Given the description of an element on the screen output the (x, y) to click on. 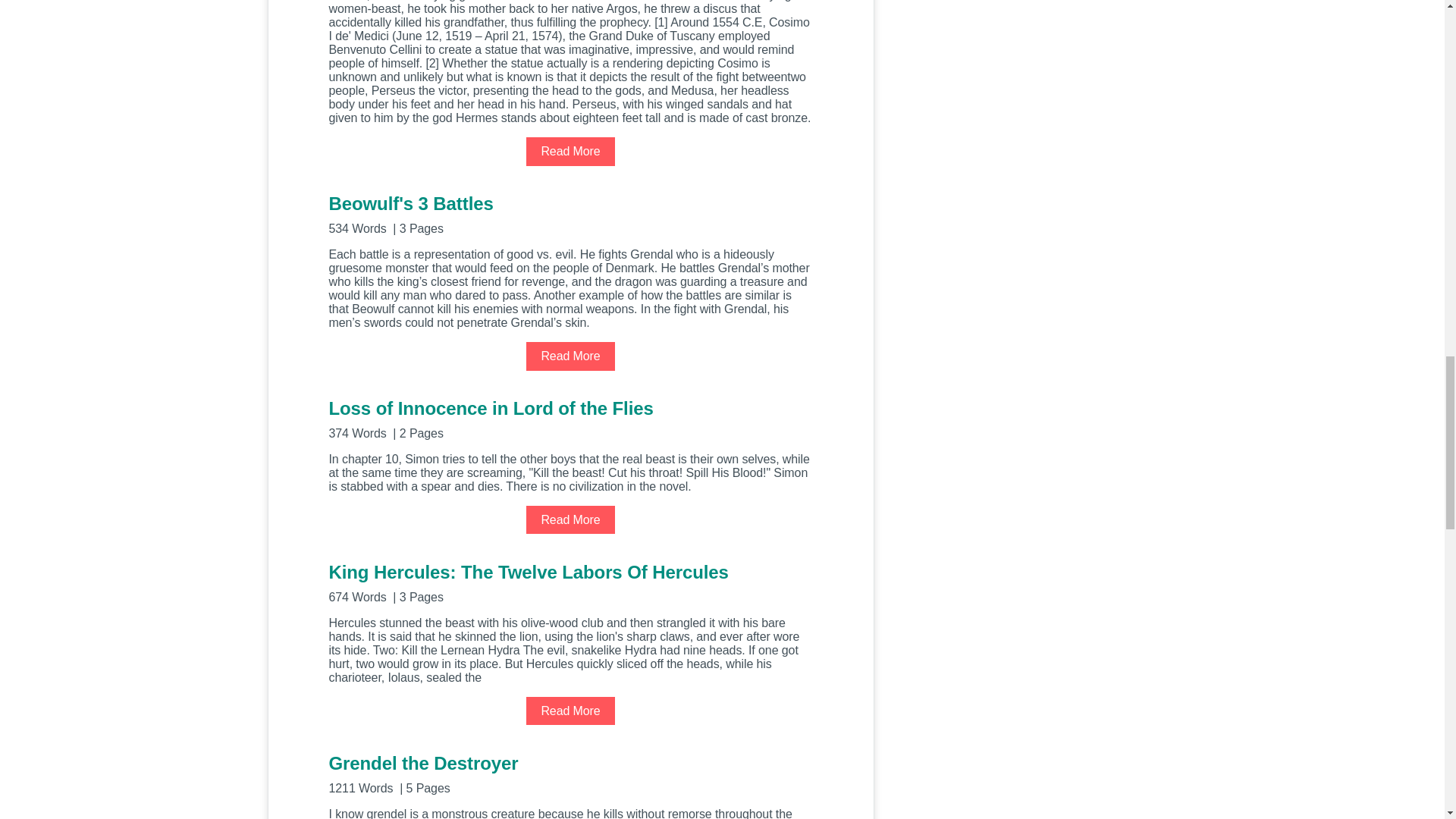
Read More (569, 710)
Read More (569, 519)
Read More (569, 356)
Beowulf's 3 Battles (570, 213)
Grendel the Destroyer (570, 772)
King Hercules: The Twelve Labors Of Hercules (570, 581)
Loss of Innocence in Lord of the Flies (570, 417)
Read More (569, 151)
